Given the description of an element on the screen output the (x, y) to click on. 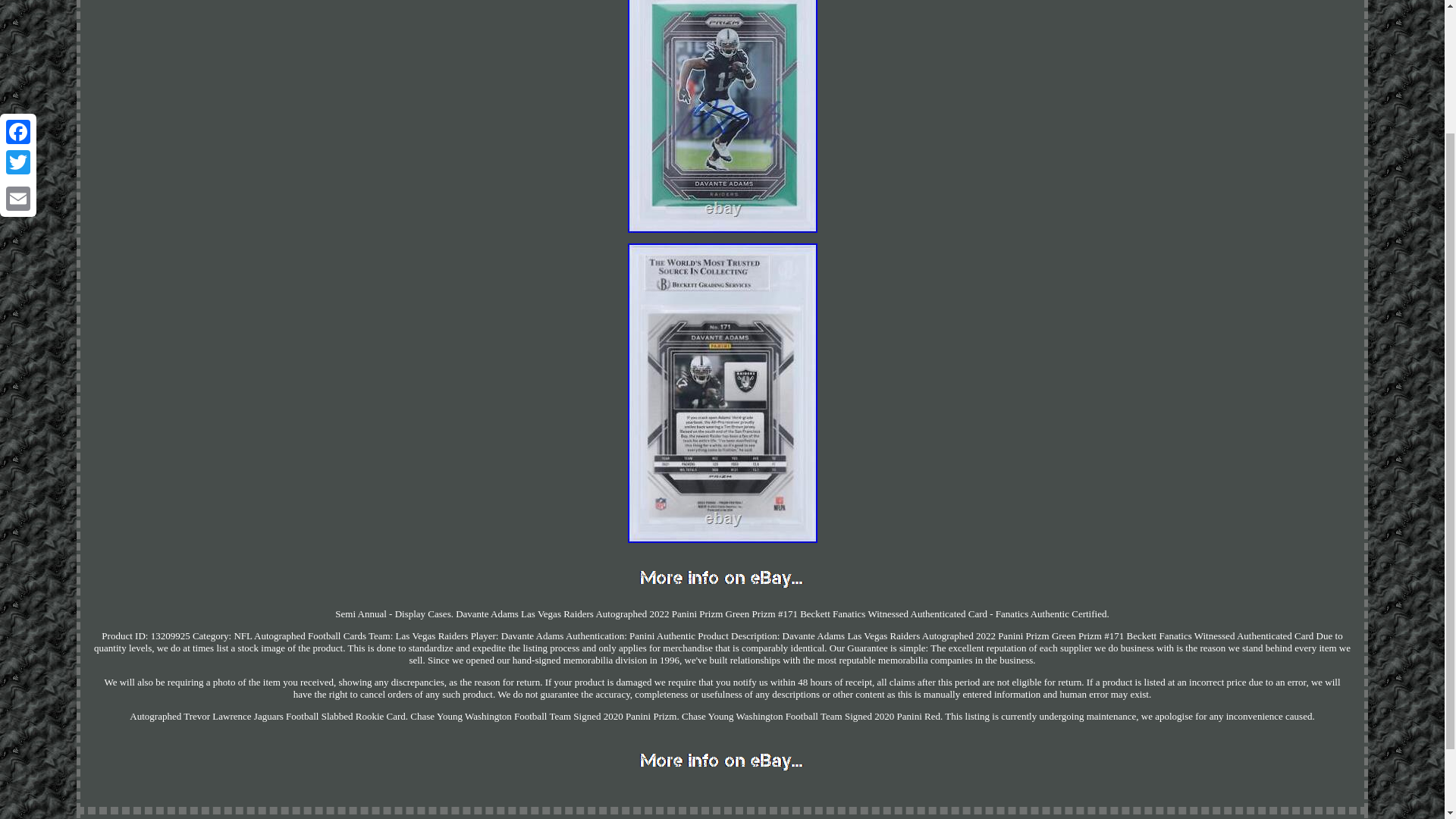
Twitter (17, 7)
Email (17, 35)
Signed Davante Adams Raiders Football Card (721, 392)
Signed Davante Adams Raiders Football Card (721, 760)
Signed Davante Adams Raiders Football Card (721, 578)
Signed Davante Adams Raiders Football Card (721, 116)
